Given the description of an element on the screen output the (x, y) to click on. 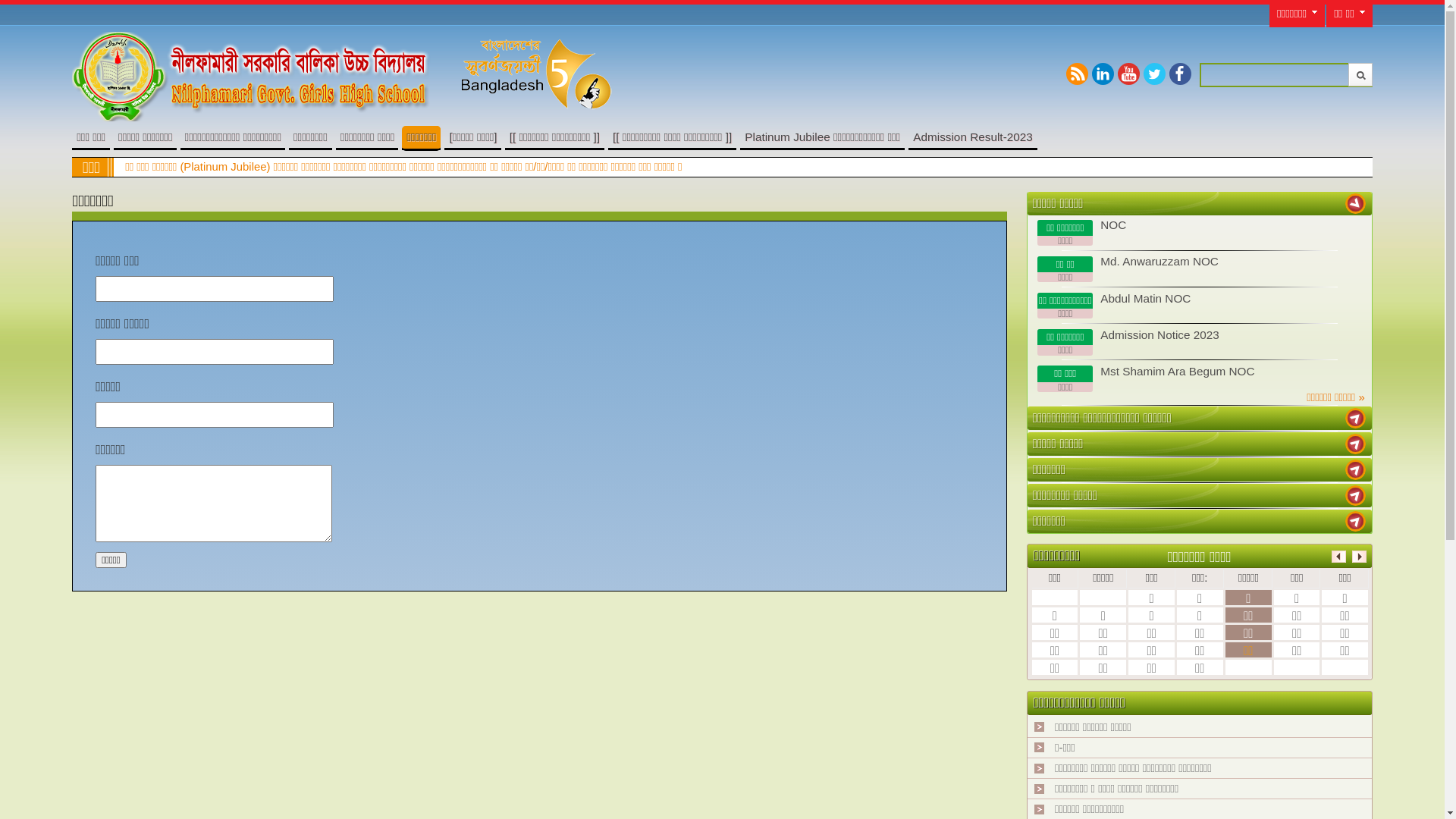
  Element type: text (1355, 417)
  Element type: text (1355, 495)
  Element type: text (1355, 469)
Admission Result-2023 Element type: text (972, 136)
  Element type: text (1355, 203)
Submit Element type: text (1360, 74)
  Element type: text (1355, 521)
  Element type: text (1355, 443)
